Given the description of an element on the screen output the (x, y) to click on. 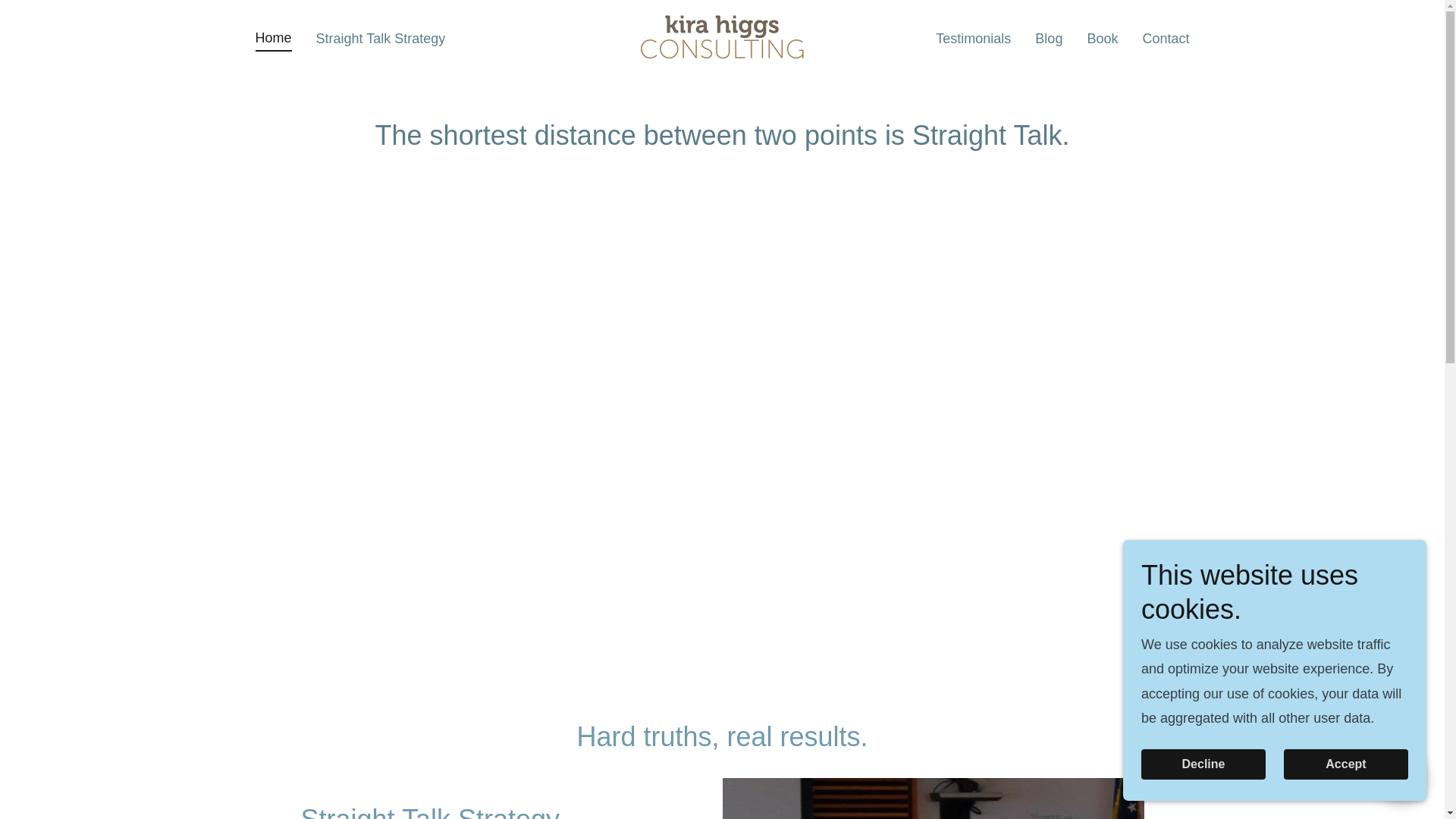
Straight Talk Strategy (380, 37)
Straight Talk Strategy             Kira Higgs Consulting (722, 37)
Testimonials (972, 37)
Home (272, 39)
Accept (1345, 764)
Decline (1203, 764)
Book (1101, 37)
Contact (1165, 37)
Blog (1048, 37)
